Given the description of an element on the screen output the (x, y) to click on. 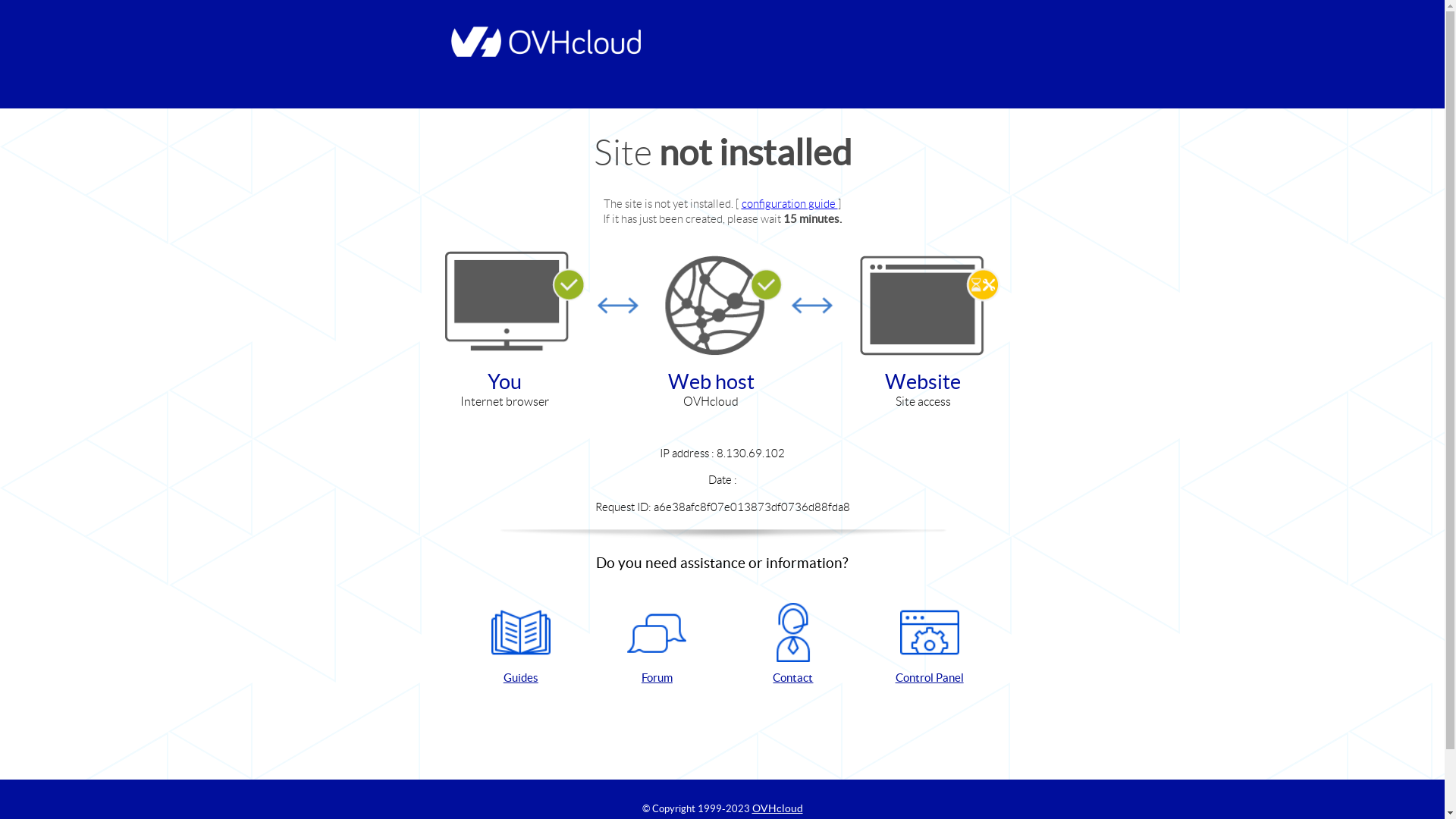
OVHcloud Element type: text (777, 808)
Control Panel Element type: text (929, 644)
configuration guide Element type: text (789, 203)
Guides Element type: text (520, 644)
Forum Element type: text (656, 644)
Contact Element type: text (792, 644)
